Given the description of an element on the screen output the (x, y) to click on. 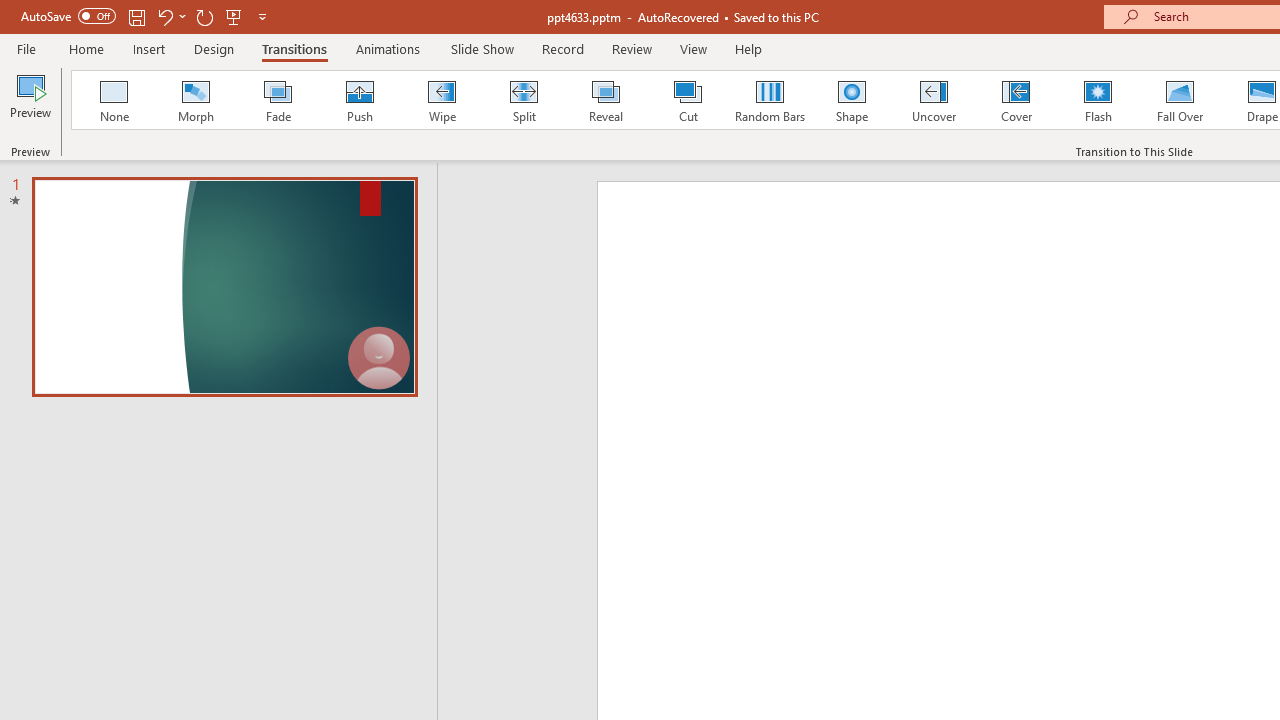
Shape (852, 100)
Flash (1098, 100)
Fall Over (1180, 100)
Split (523, 100)
None (113, 100)
Wipe (441, 100)
